Given the description of an element on the screen output the (x, y) to click on. 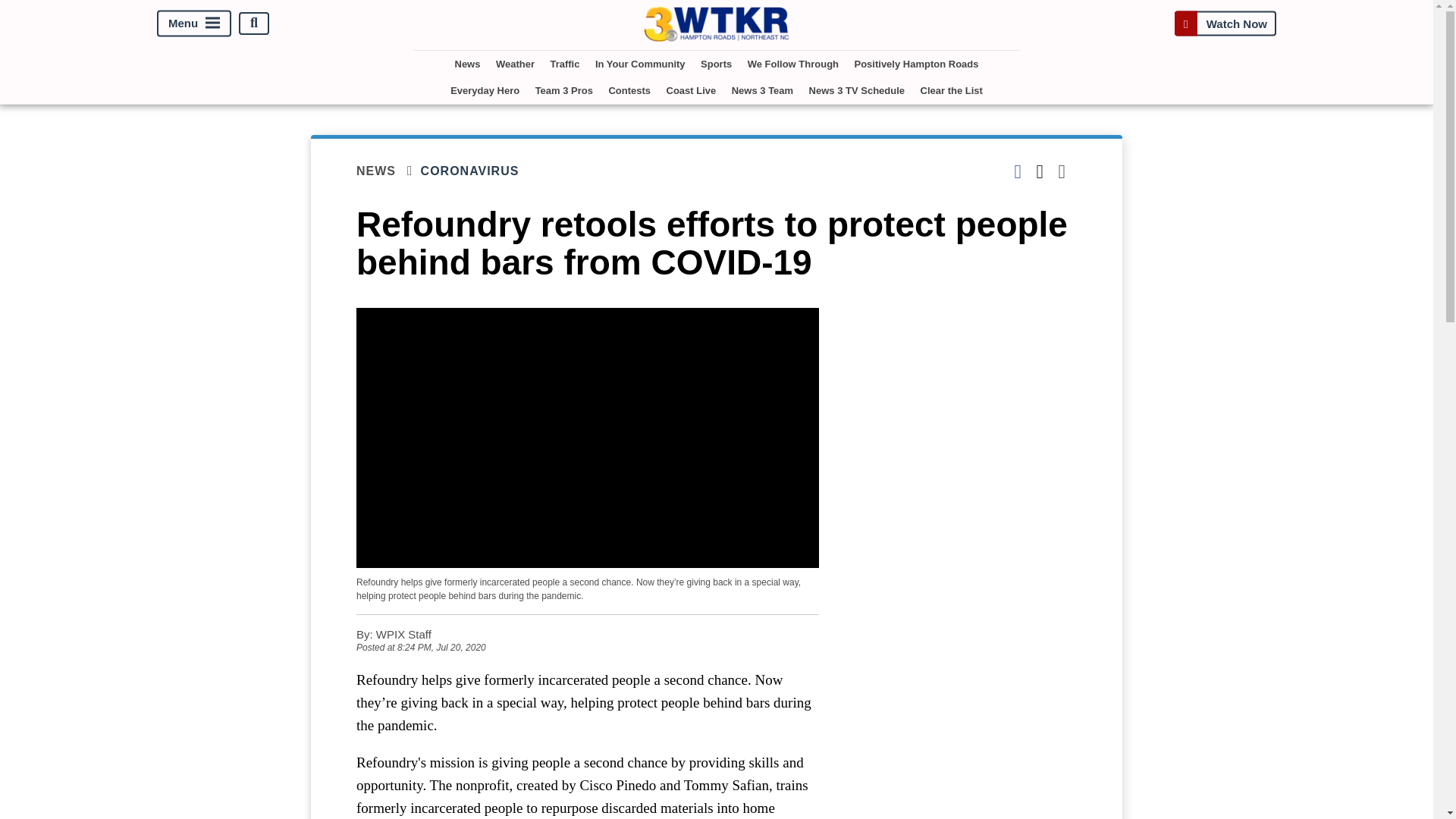
Menu (194, 22)
Watch Now (1224, 22)
